Given the description of an element on the screen output the (x, y) to click on. 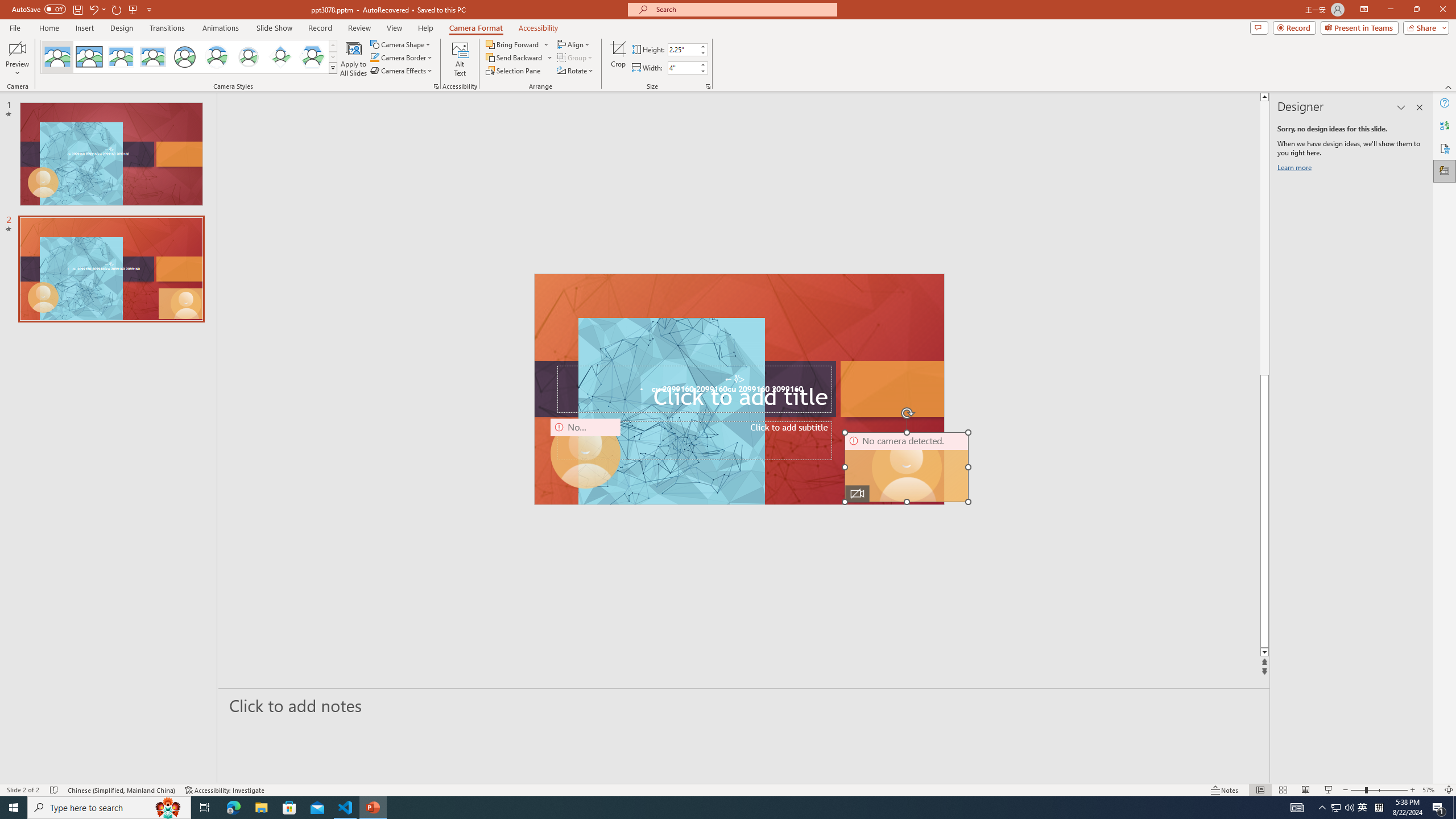
Camera Shape (400, 44)
An abstract genetic concept (738, 389)
Camera 9, No camera detected. (584, 453)
Align (574, 44)
